Given the description of an element on the screen output the (x, y) to click on. 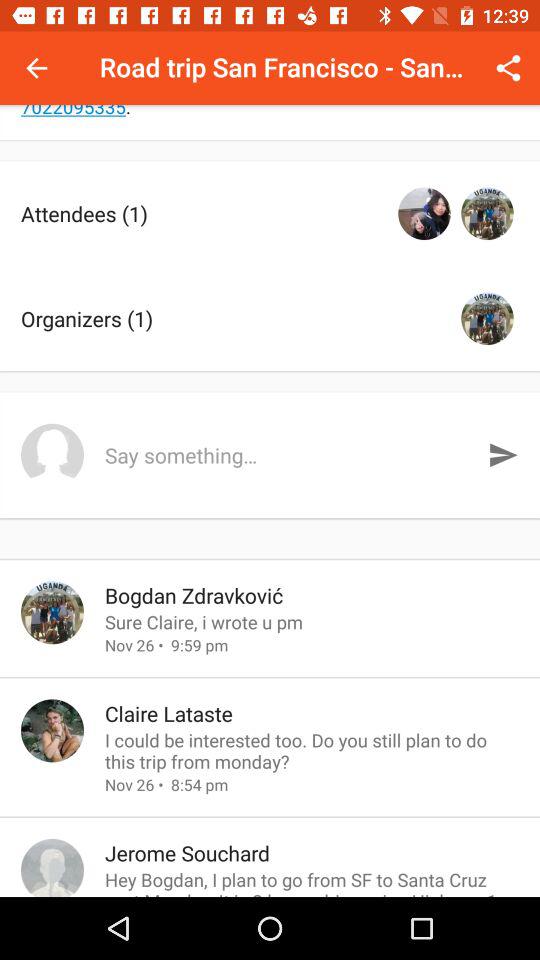
tap icon below the jerome souchard item (312, 881)
